Given the description of an element on the screen output the (x, y) to click on. 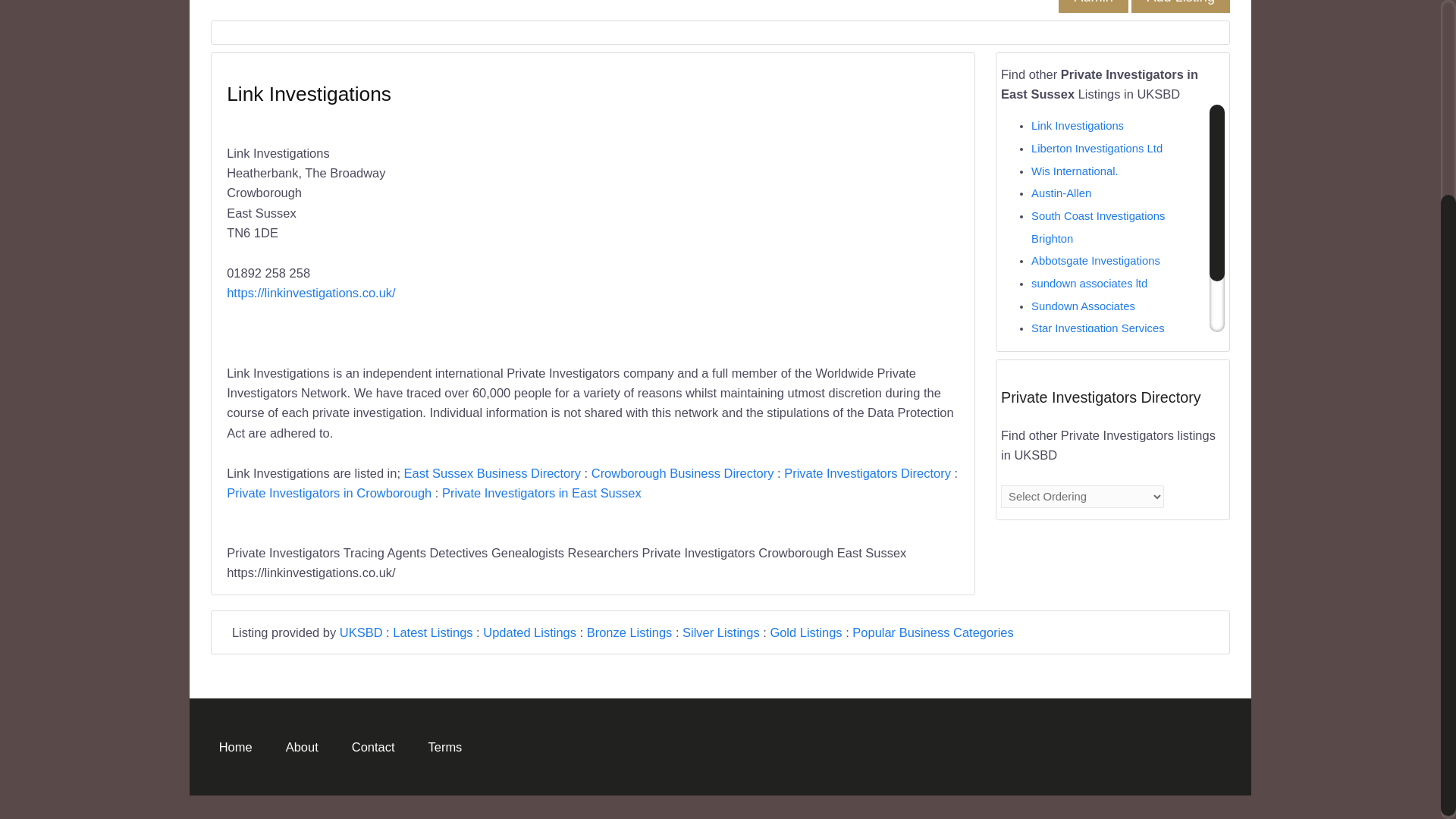
Sundown Associates (1082, 348)
Admin (1092, 38)
Austin-Allen (1060, 235)
UKSBD (360, 674)
Terms (444, 773)
Liberton Investigations Ltd (1095, 191)
Abbotsgate Investigations (1095, 303)
About (302, 773)
Updated Listings (529, 674)
Silver Listings (721, 674)
Wis International. (1074, 214)
Private Investigators Directory (867, 515)
Star Investigation Services (1097, 370)
Popular Business Categories (932, 674)
East Sussex Business Directory (492, 515)
